Given the description of an element on the screen output the (x, y) to click on. 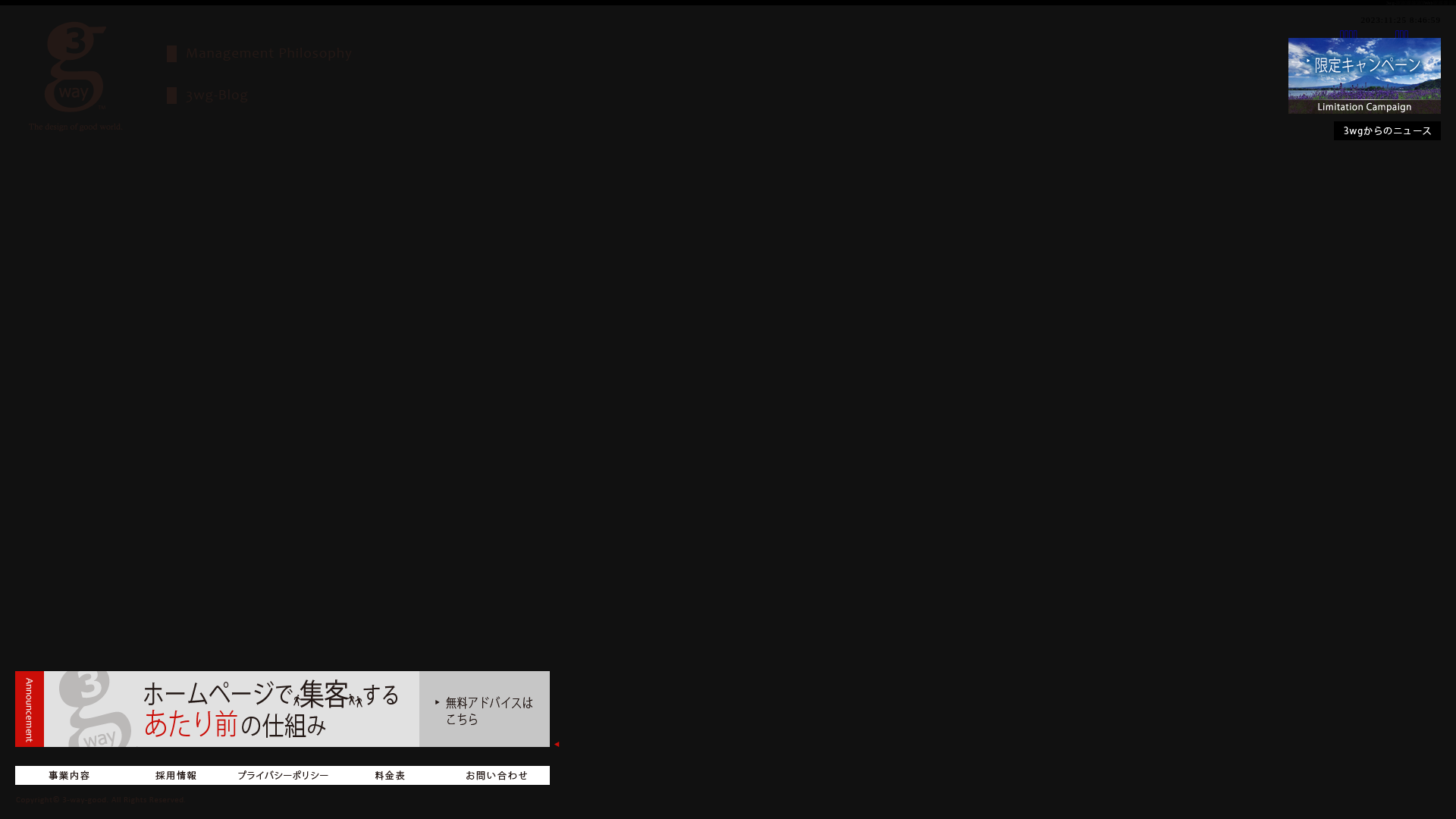
3wg-Blog Element type: text (280, 95)
Management Philosophy Element type: text (346, 53)
